Given the description of an element on the screen output the (x, y) to click on. 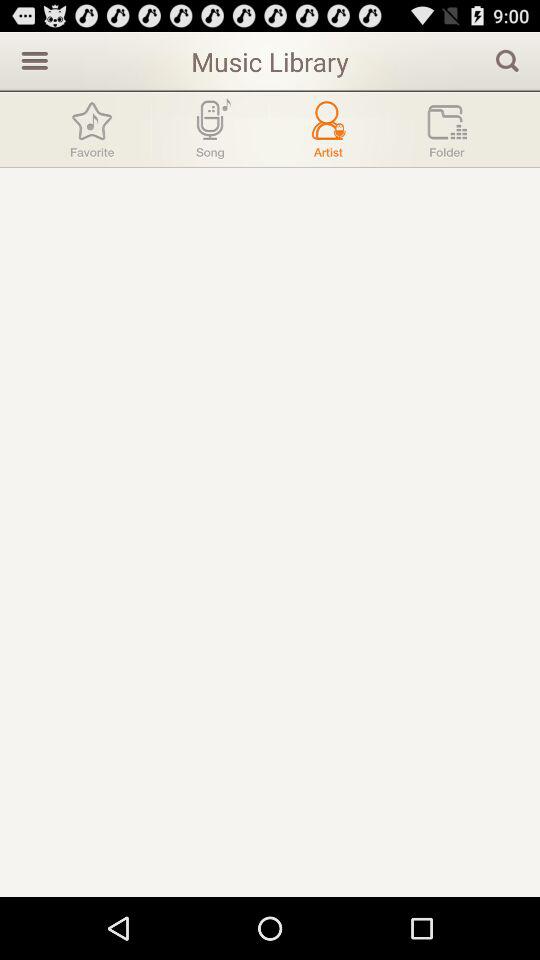
song (210, 129)
